Given the description of an element on the screen output the (x, y) to click on. 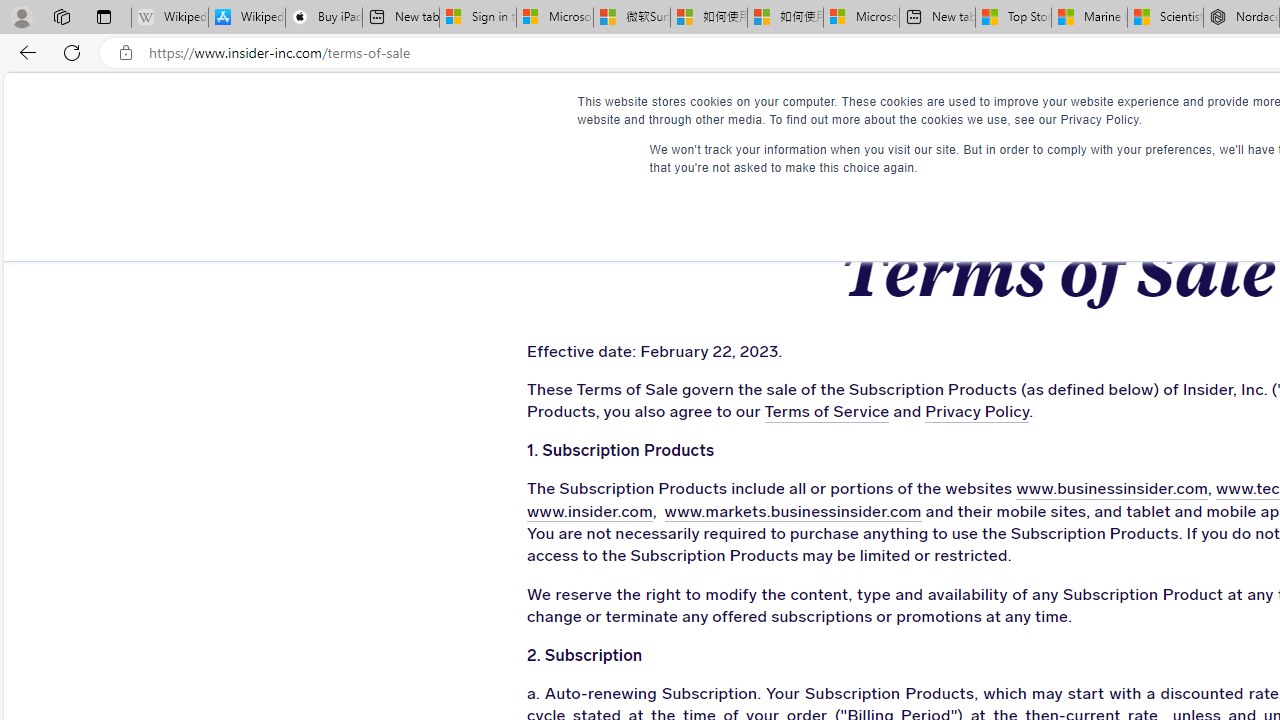
Privacy Policy (977, 412)
Terms of Service (826, 412)
www.markets.businessinsider.com (792, 511)
www.insider.com (589, 511)
Insider Inc. (1057, 111)
Insider Inc. (1056, 111)
Microsoft account | Account Checkup (861, 17)
WHO WE ARE (610, 110)
